Given the description of an element on the screen output the (x, y) to click on. 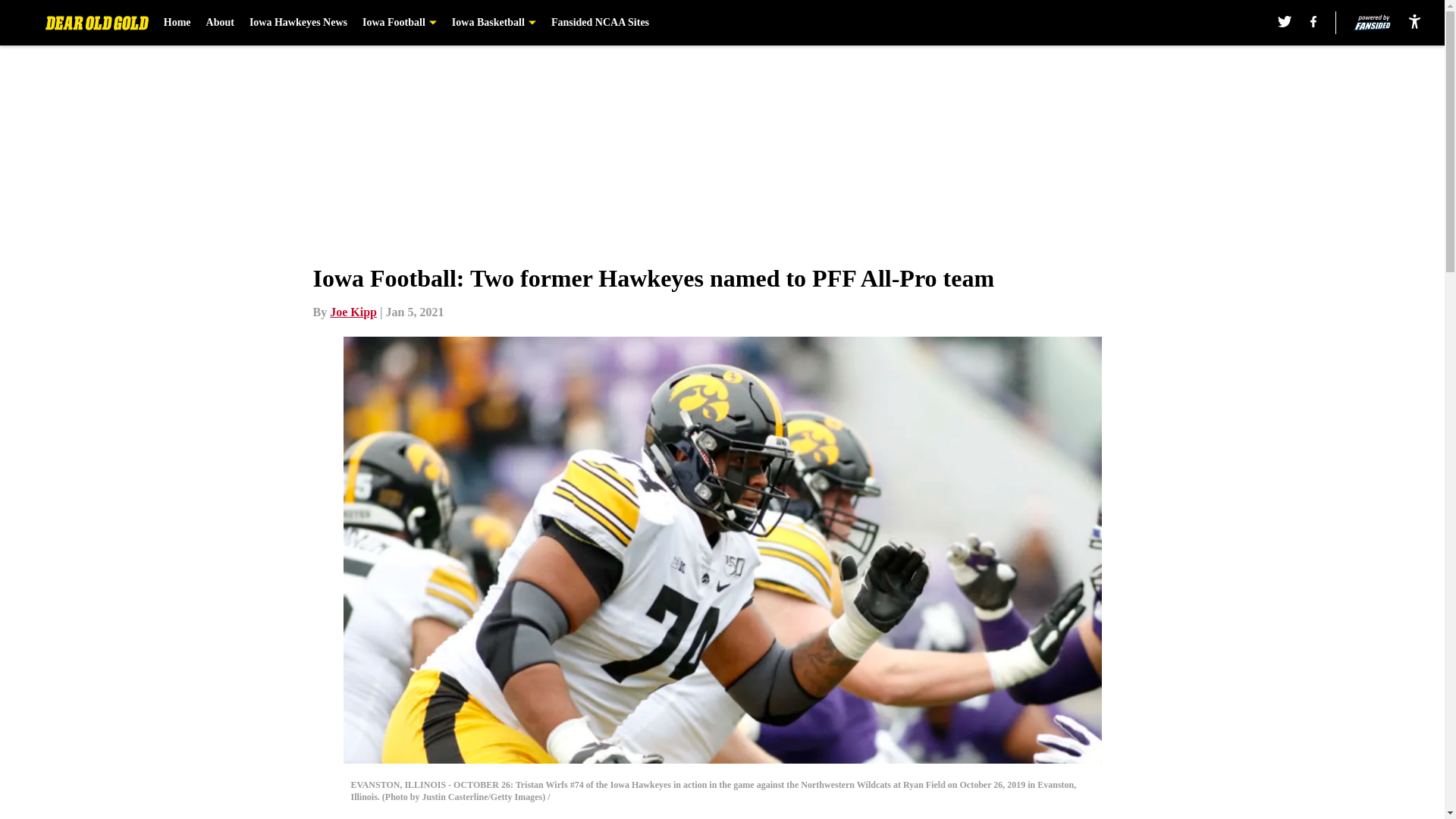
Home (176, 22)
Fansided NCAA Sites (600, 22)
Joe Kipp (353, 311)
About (220, 22)
Iowa Hawkeyes News (297, 22)
